Given the description of an element on the screen output the (x, y) to click on. 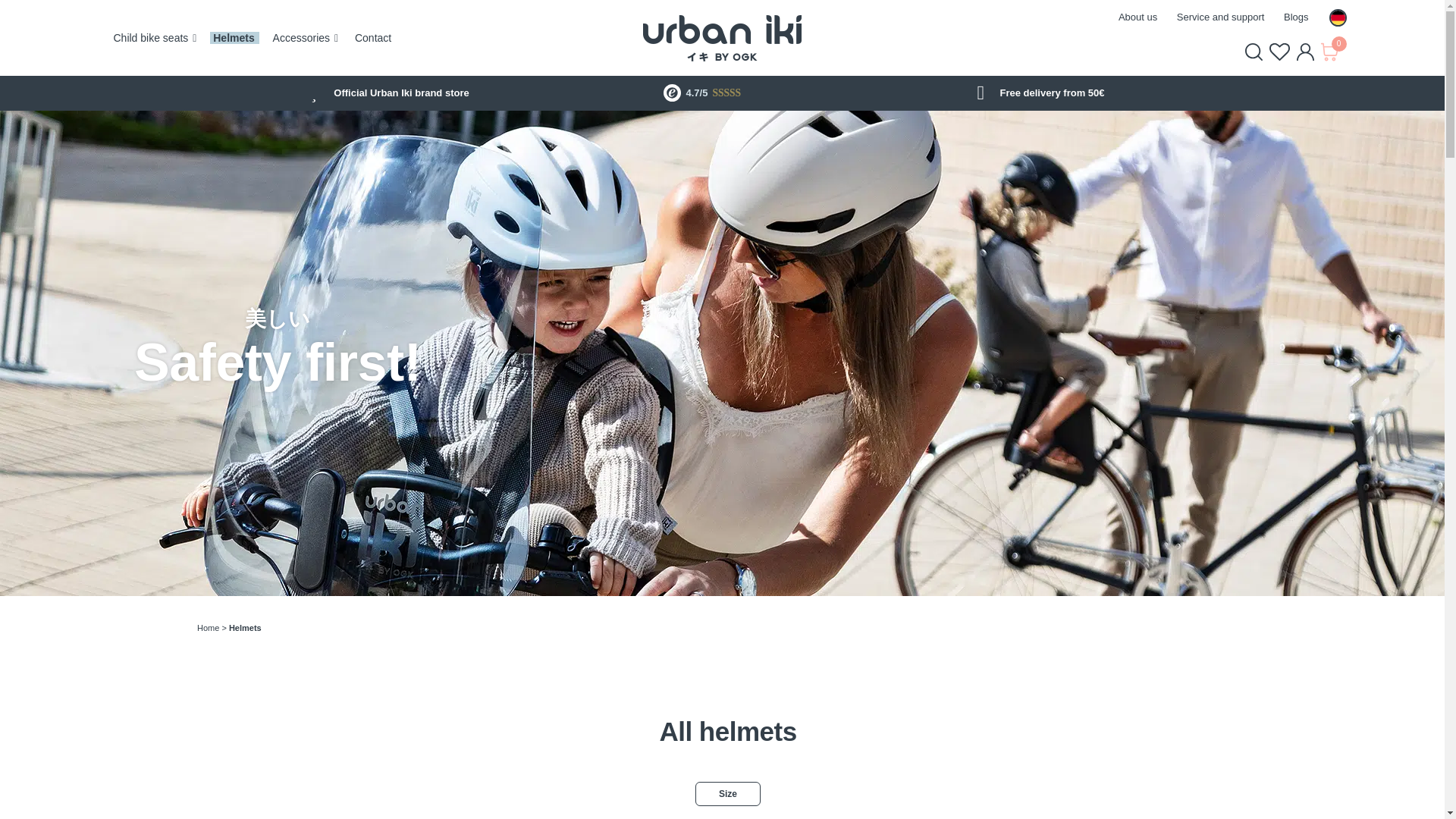
Child bike seats (151, 37)
Helmets (232, 37)
About us (1137, 16)
Accessories (301, 37)
Urban Iki (722, 38)
Contact (373, 37)
